Given the description of an element on the screen output the (x, y) to click on. 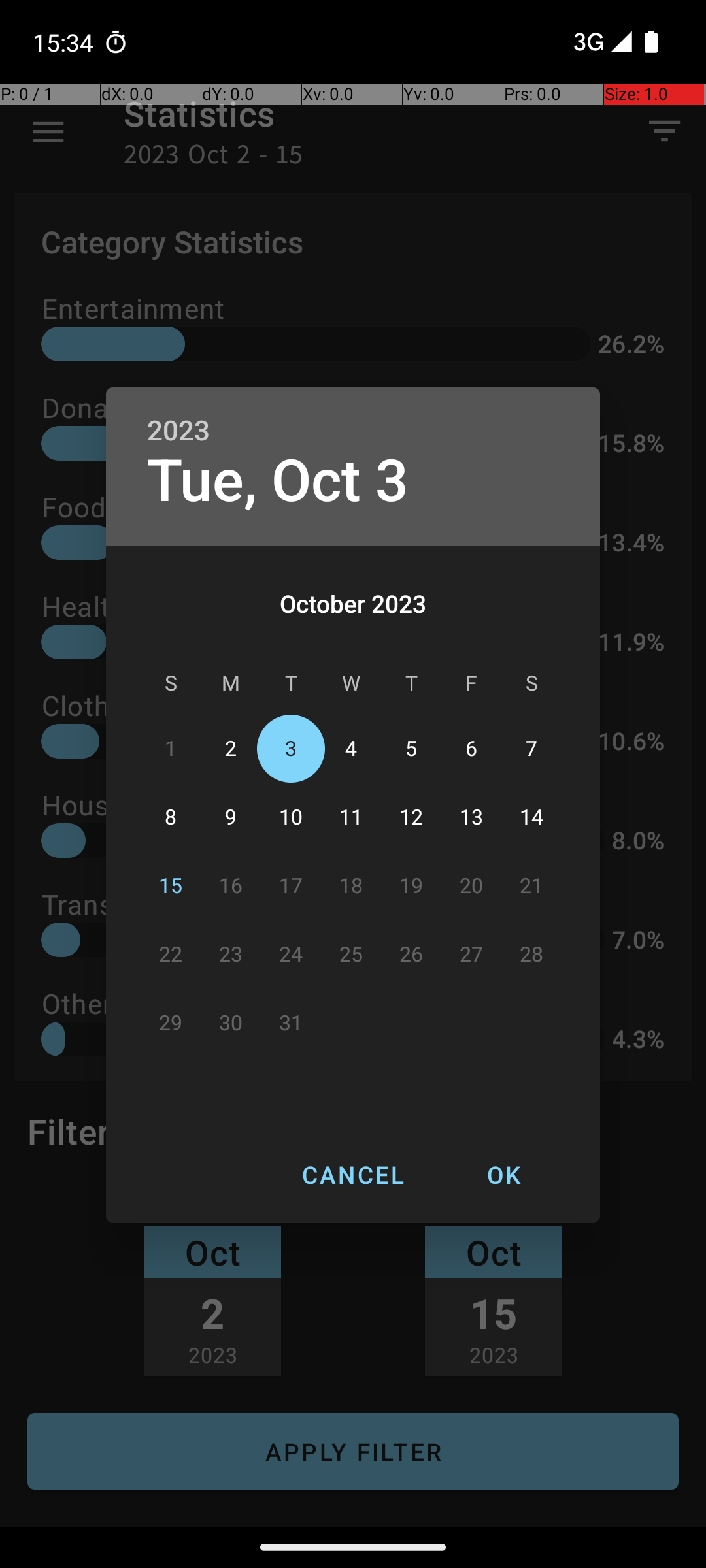
Tue, Oct 3 Element type: android.widget.TextView (278, 480)
